Given the description of an element on the screen output the (x, y) to click on. 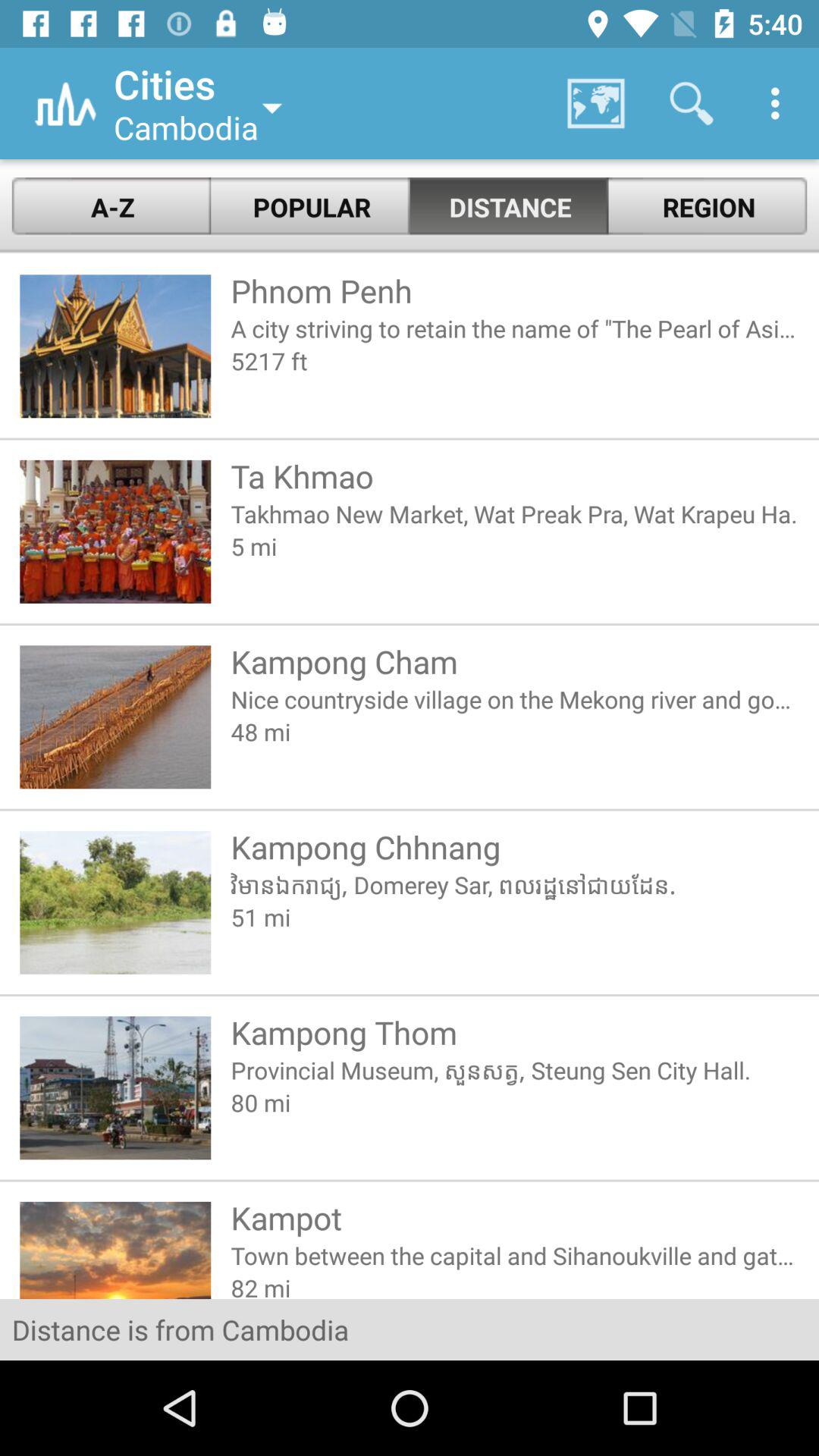
swipe to the 82 mi item (514, 1285)
